Given the description of an element on the screen output the (x, y) to click on. 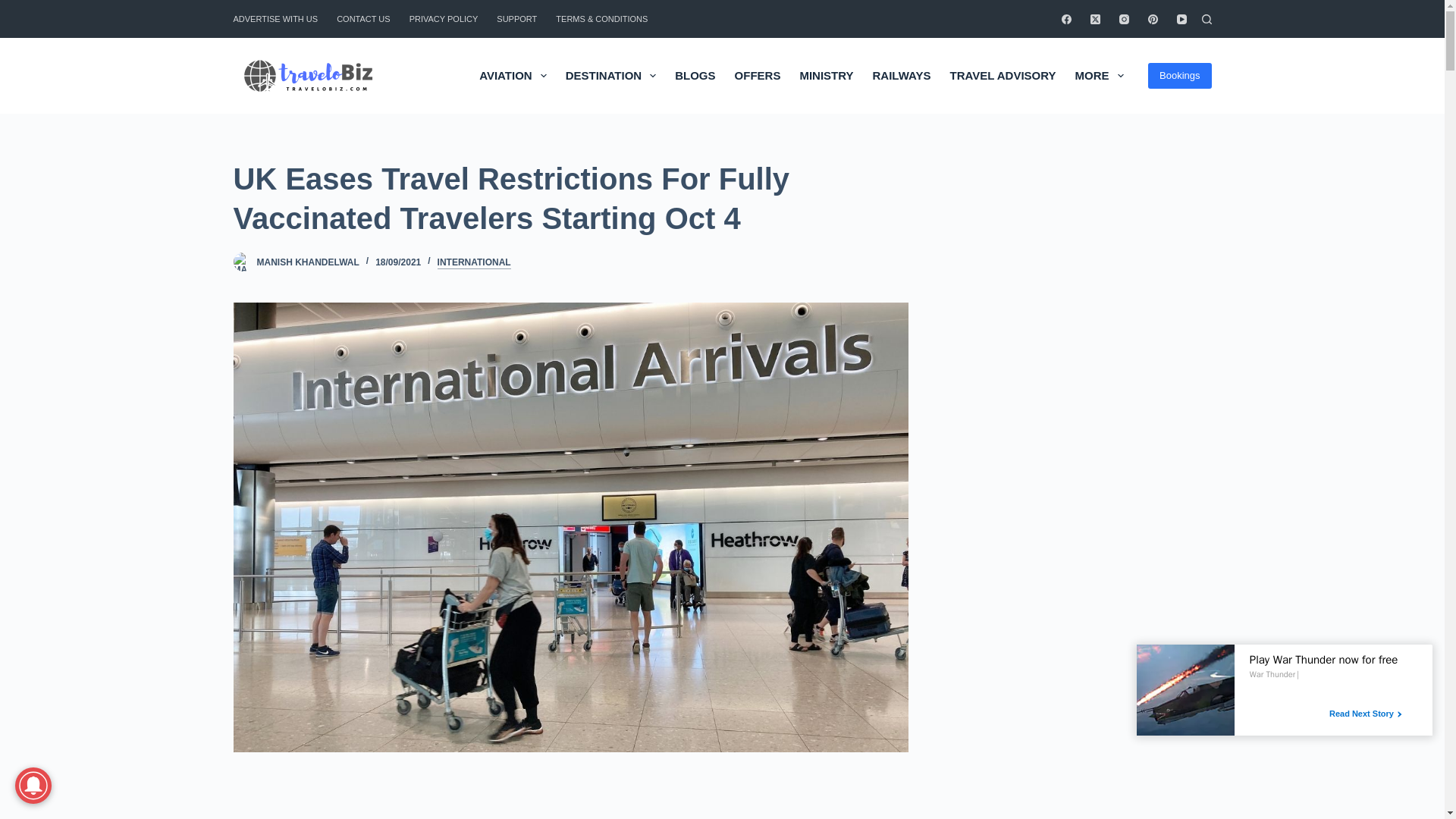
Advertisement (536, 804)
PRIVACY POLICY (442, 18)
ADVERTISE WITH US (279, 18)
CONTACT US (363, 18)
SUPPORT (517, 18)
Posts by Manish Khandelwal (307, 262)
Skip to content (15, 7)
